Given the description of an element on the screen output the (x, y) to click on. 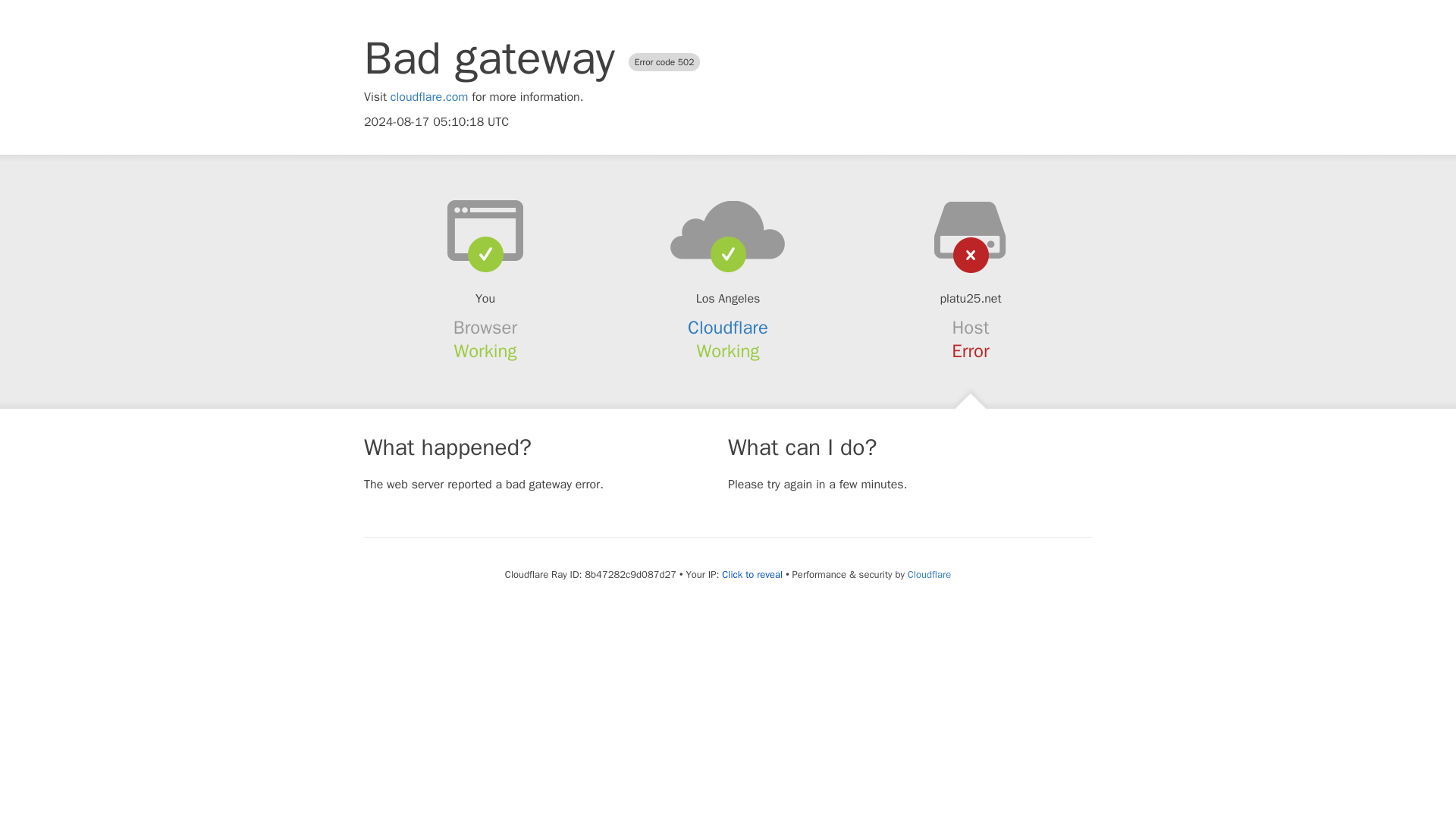
Click to reveal (752, 574)
Cloudflare (727, 327)
cloudflare.com (429, 96)
Cloudflare (928, 574)
